Given the description of an element on the screen output the (x, y) to click on. 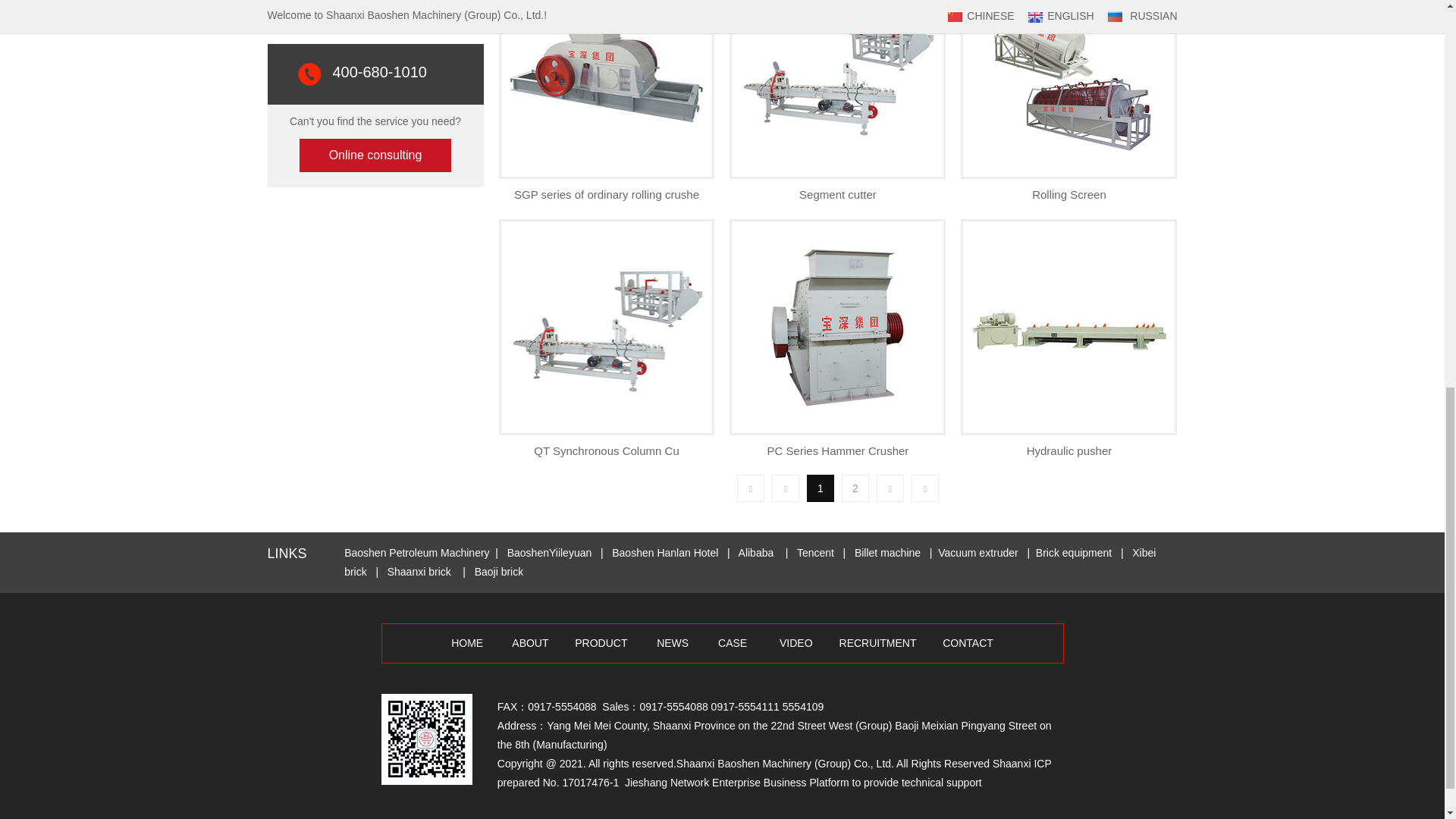
Online consulting (375, 154)
Spareparts (379, 7)
400-680-1010 (378, 73)
